Given the description of an element on the screen output the (x, y) to click on. 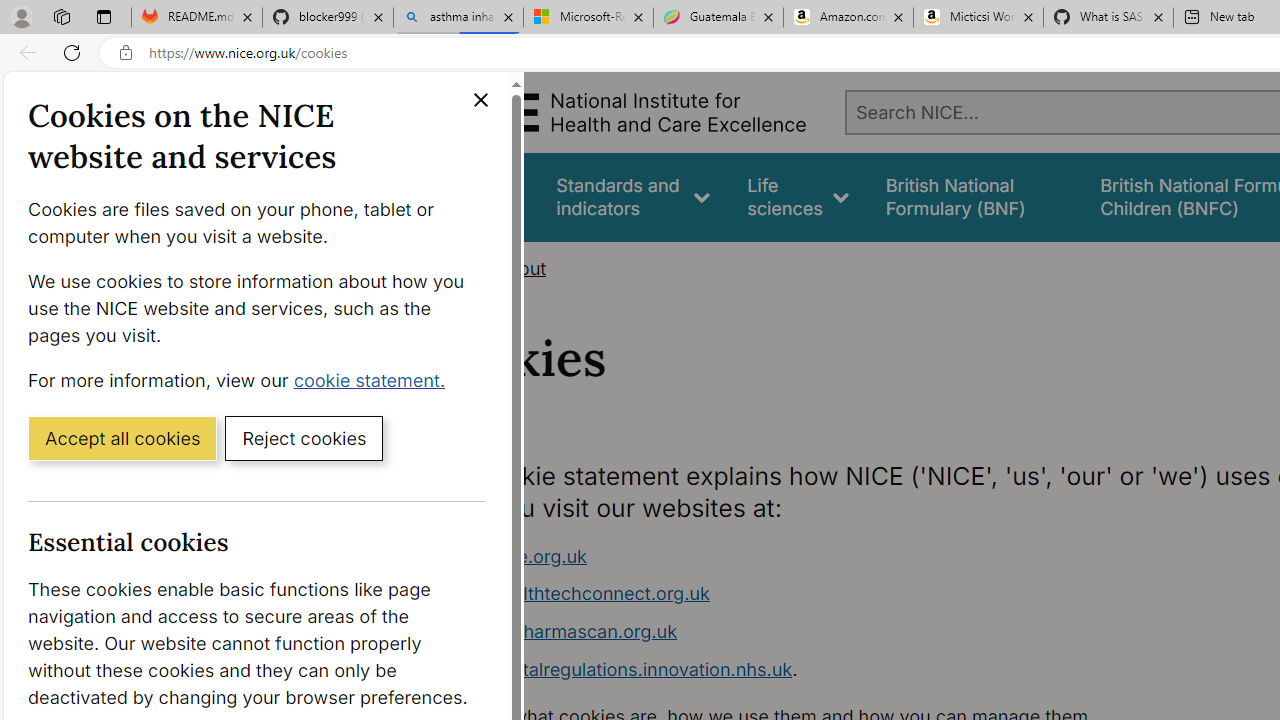
Microsoft-Report a Concern to Bing (587, 17)
About (520, 268)
www.ukpharmascan.org.uk (560, 631)
cookie statement. (Opens in a new window) (373, 379)
Home (446, 268)
www.digitalregulations.innovation.nhs.uk (617, 668)
Close cookie banner (480, 99)
